Given the description of an element on the screen output the (x, y) to click on. 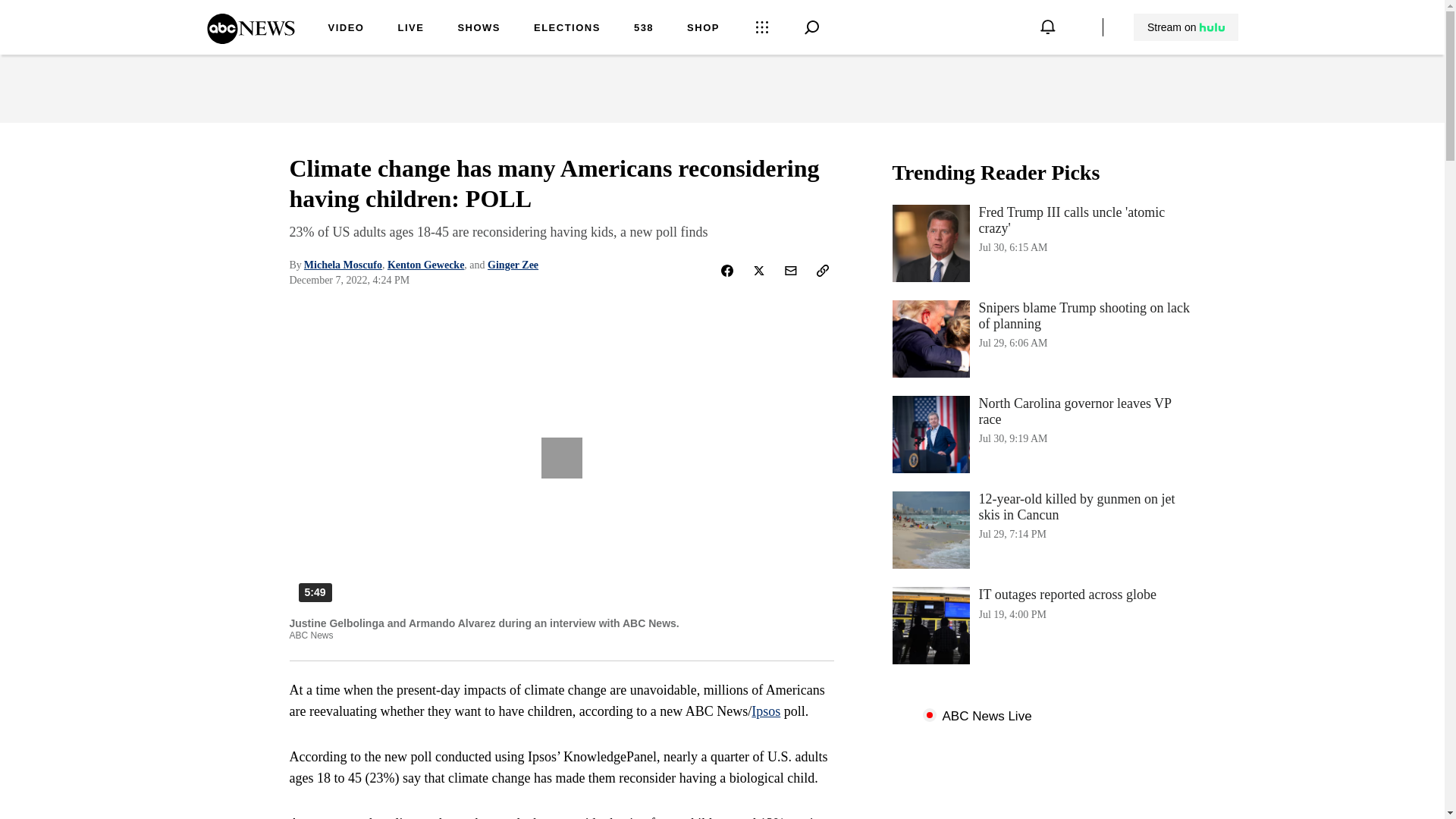
SHOP (703, 28)
Michela Moscufo (342, 265)
ABC News (1043, 625)
ELECTIONS (250, 38)
Stream on (566, 28)
538 (1186, 26)
Ginger Zee (643, 28)
Ipsos (512, 265)
SHOWS (765, 711)
Kenton Gewecke (1043, 434)
LIVE (478, 28)
